Given the description of an element on the screen output the (x, y) to click on. 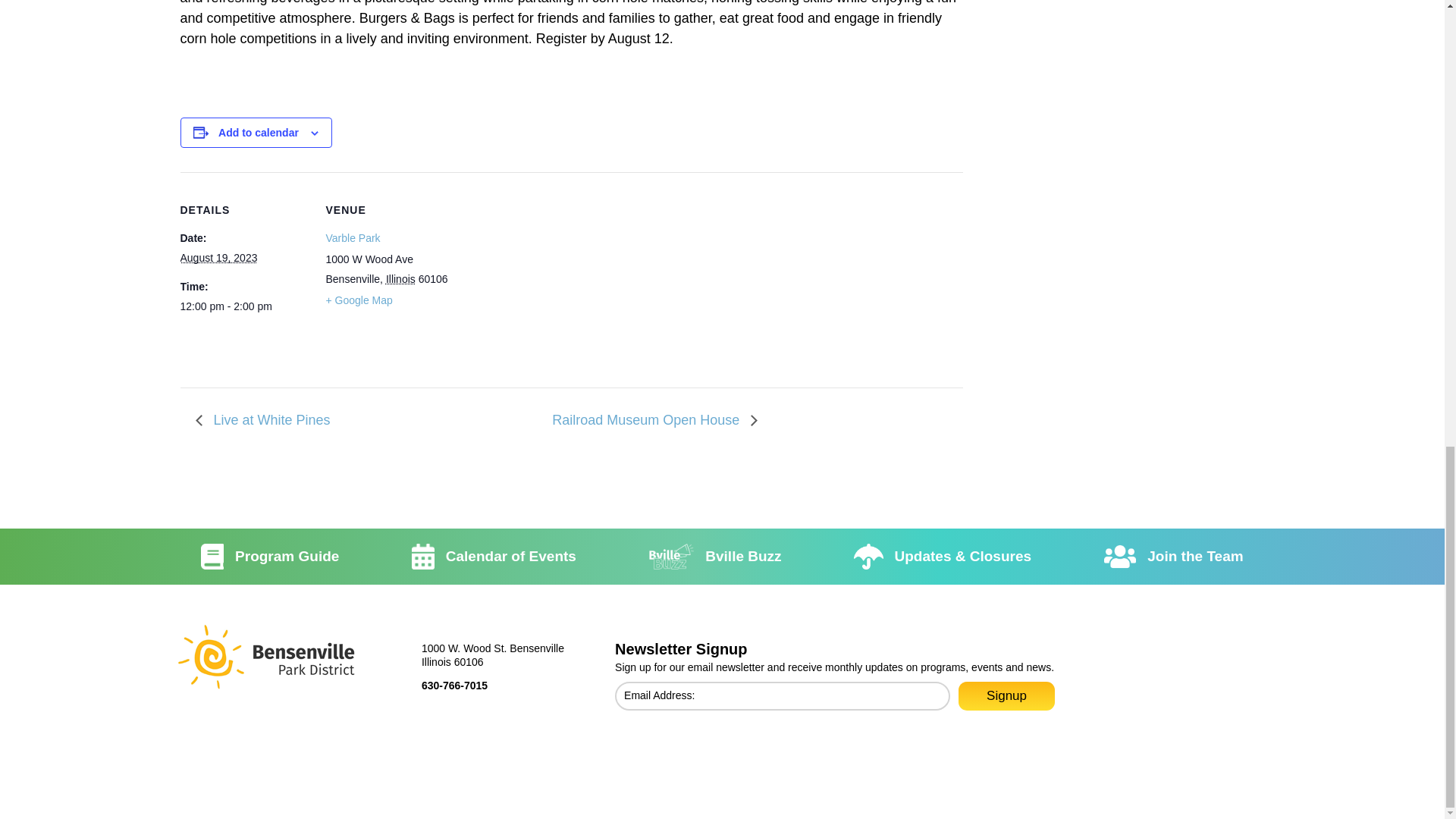
Click to view a Google Map (359, 300)
2023-08-19 (218, 257)
2023-08-19 (243, 306)
Illinois (399, 278)
